Given the description of an element on the screen output the (x, y) to click on. 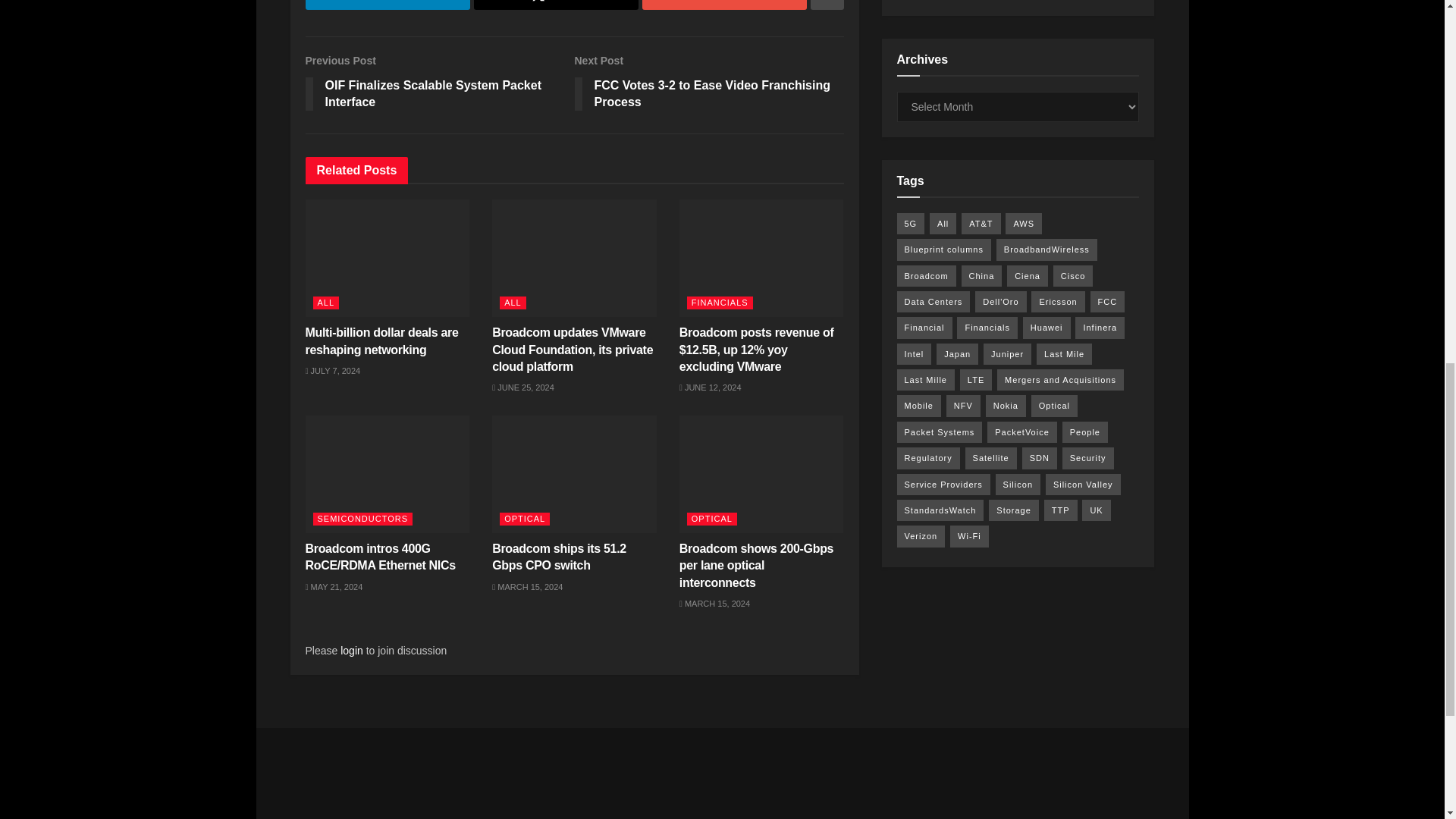
Send (709, 84)
Share (724, 4)
Tweet (386, 4)
